Given the description of an element on the screen output the (x, y) to click on. 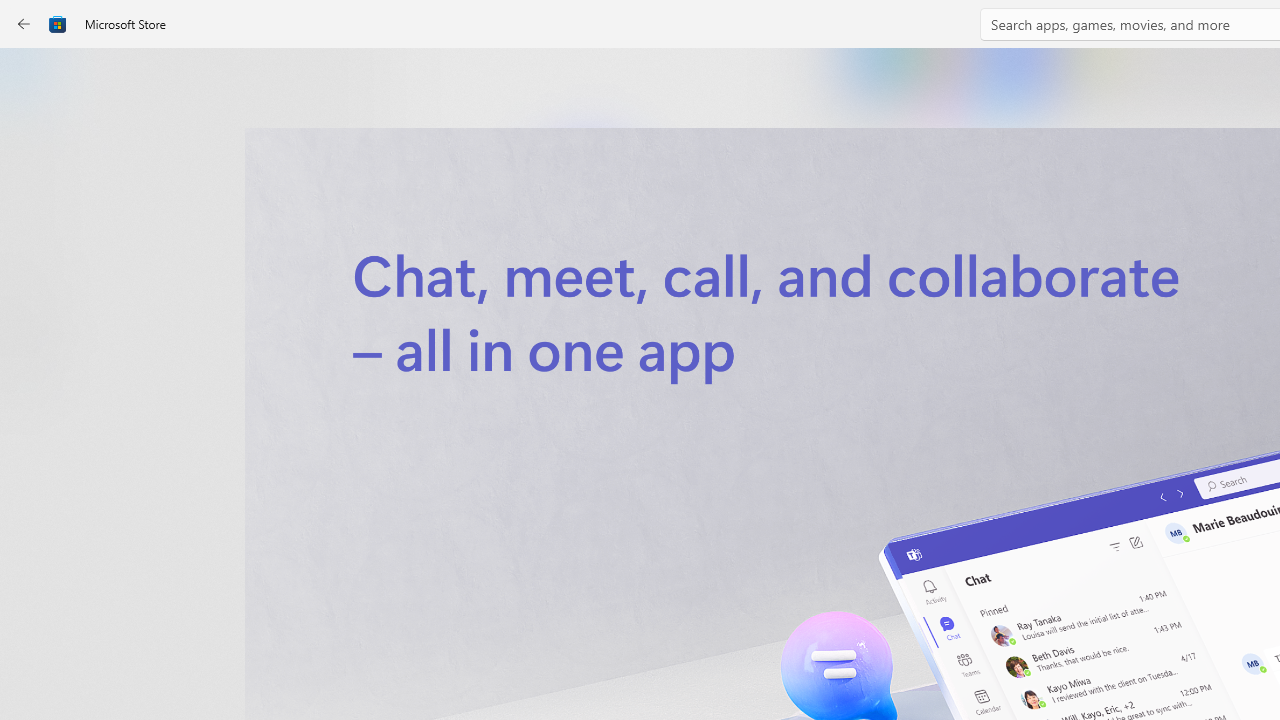
Microsoft Corporation (673, 333)
2.6 stars. Click to skip to ratings and reviews (542, 543)
Back (24, 24)
Sign in to review (882, 667)
Show more (854, 428)
Install (586, 428)
